Given the description of an element on the screen output the (x, y) to click on. 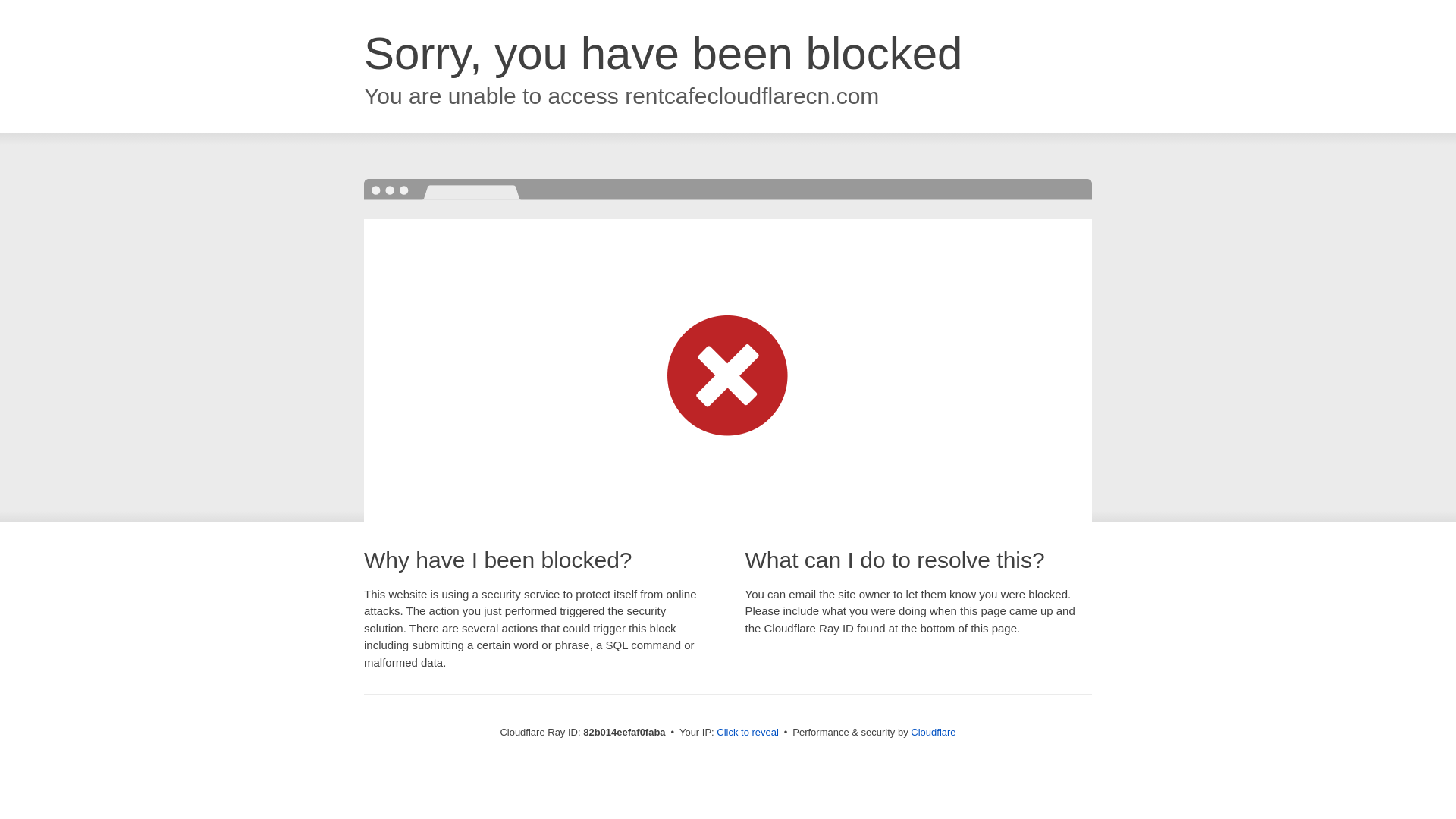
Click to reveal Element type: text (747, 732)
Cloudflare Element type: text (932, 731)
